Given the description of an element on the screen output the (x, y) to click on. 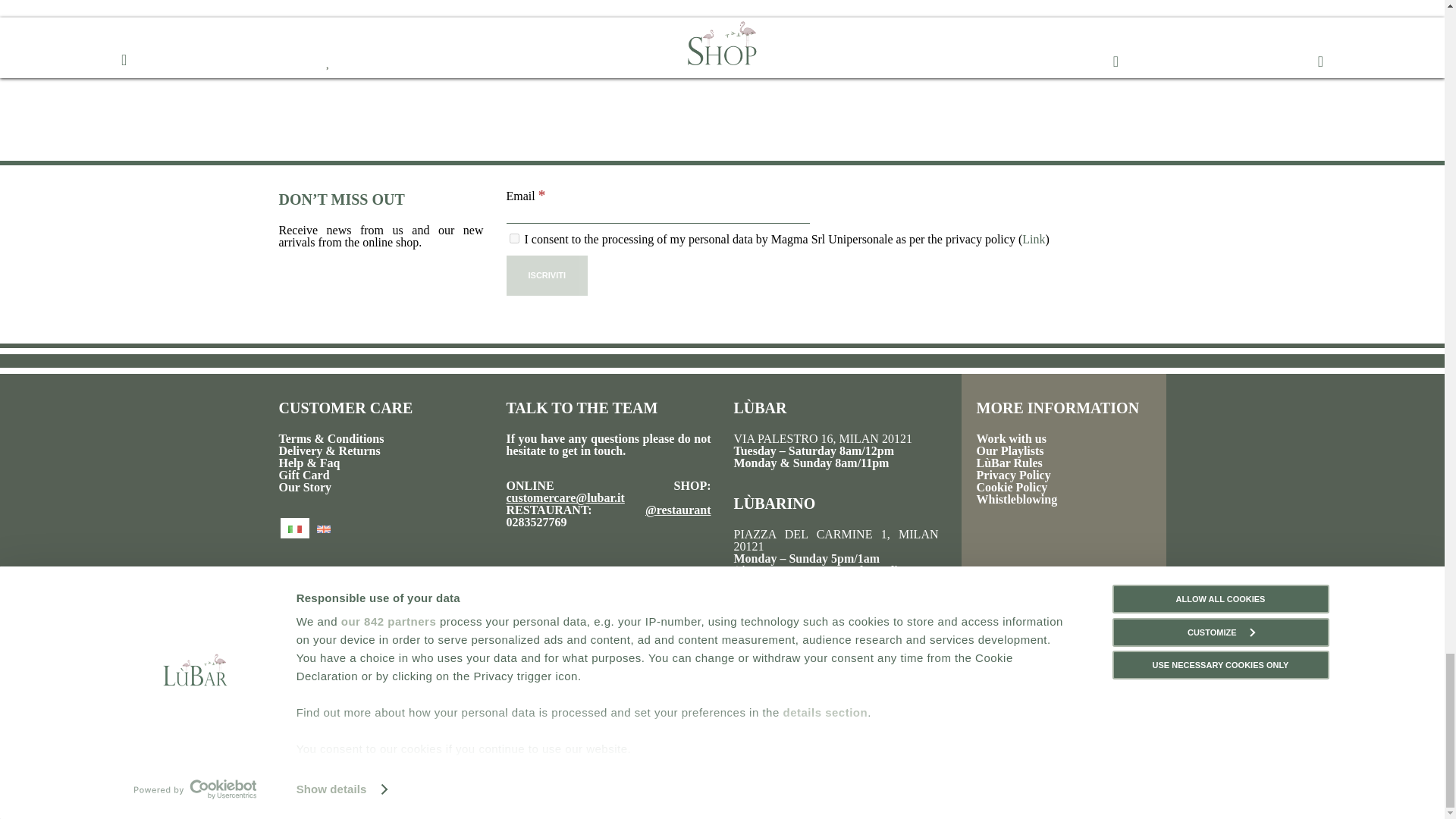
1 (514, 238)
ISCRIVITI (547, 275)
